Given the description of an element on the screen output the (x, y) to click on. 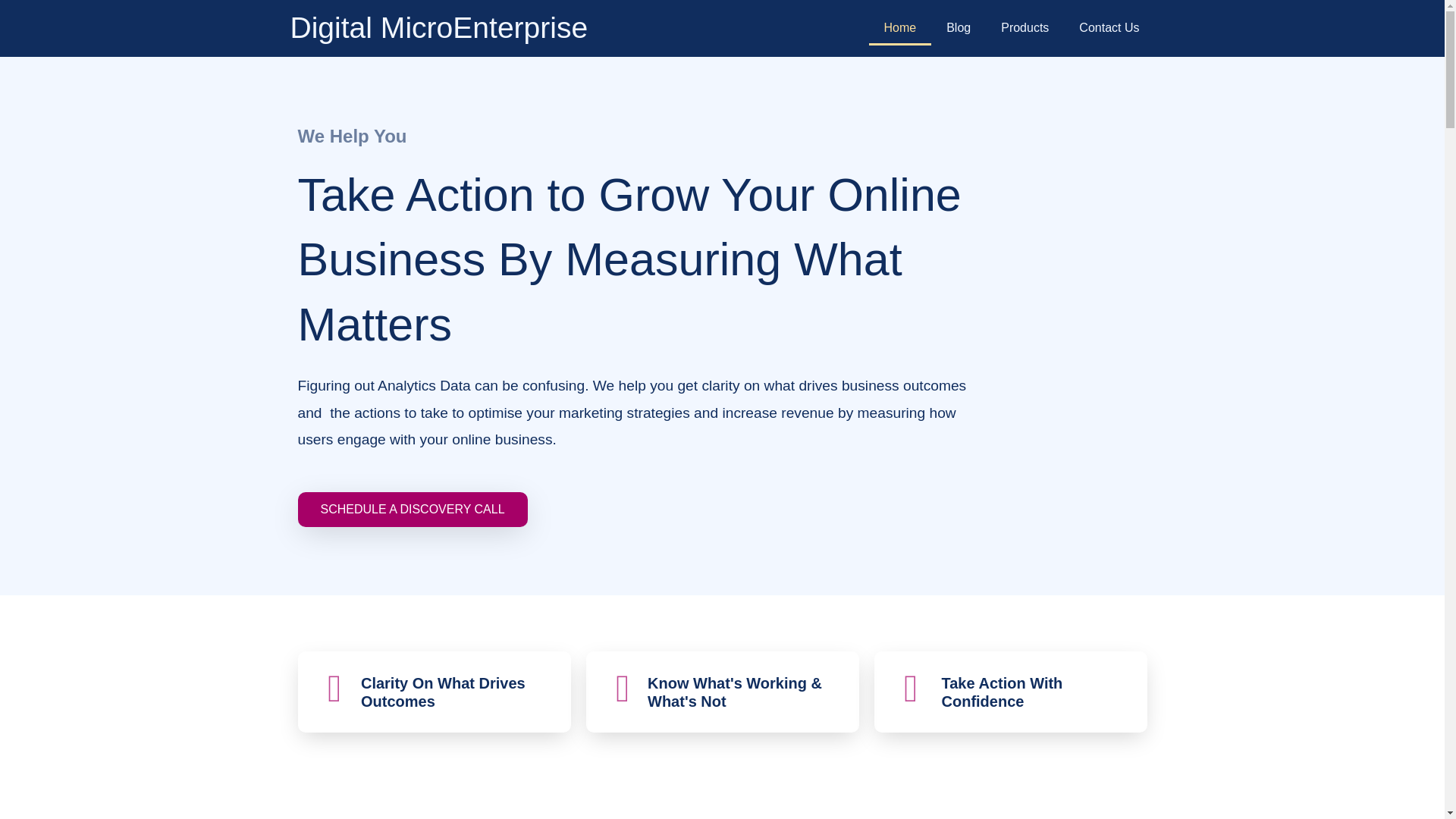
Home (900, 27)
Products (1024, 27)
Digital MicroEnterprise (438, 27)
SCHEDULE A DISCOVERY CALL (412, 509)
Contact Us (1109, 27)
Blog (958, 27)
